Given the description of an element on the screen output the (x, y) to click on. 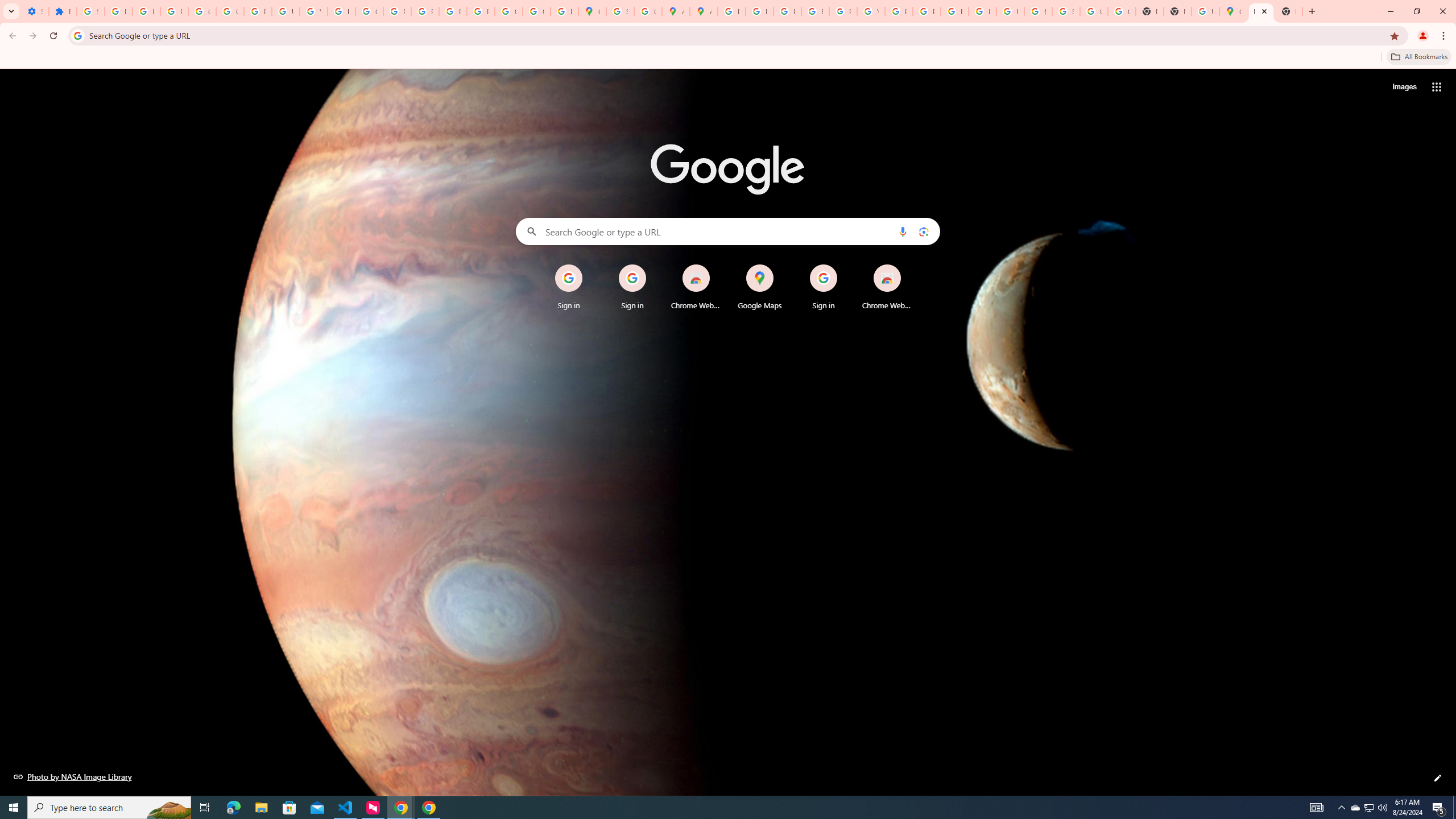
Use Google Maps in Space - Google Maps Help (1205, 11)
Remove (909, 265)
Sign in - Google Accounts (90, 11)
Create your Google Account (647, 11)
New Tab (1288, 11)
